Given the description of an element on the screen output the (x, y) to click on. 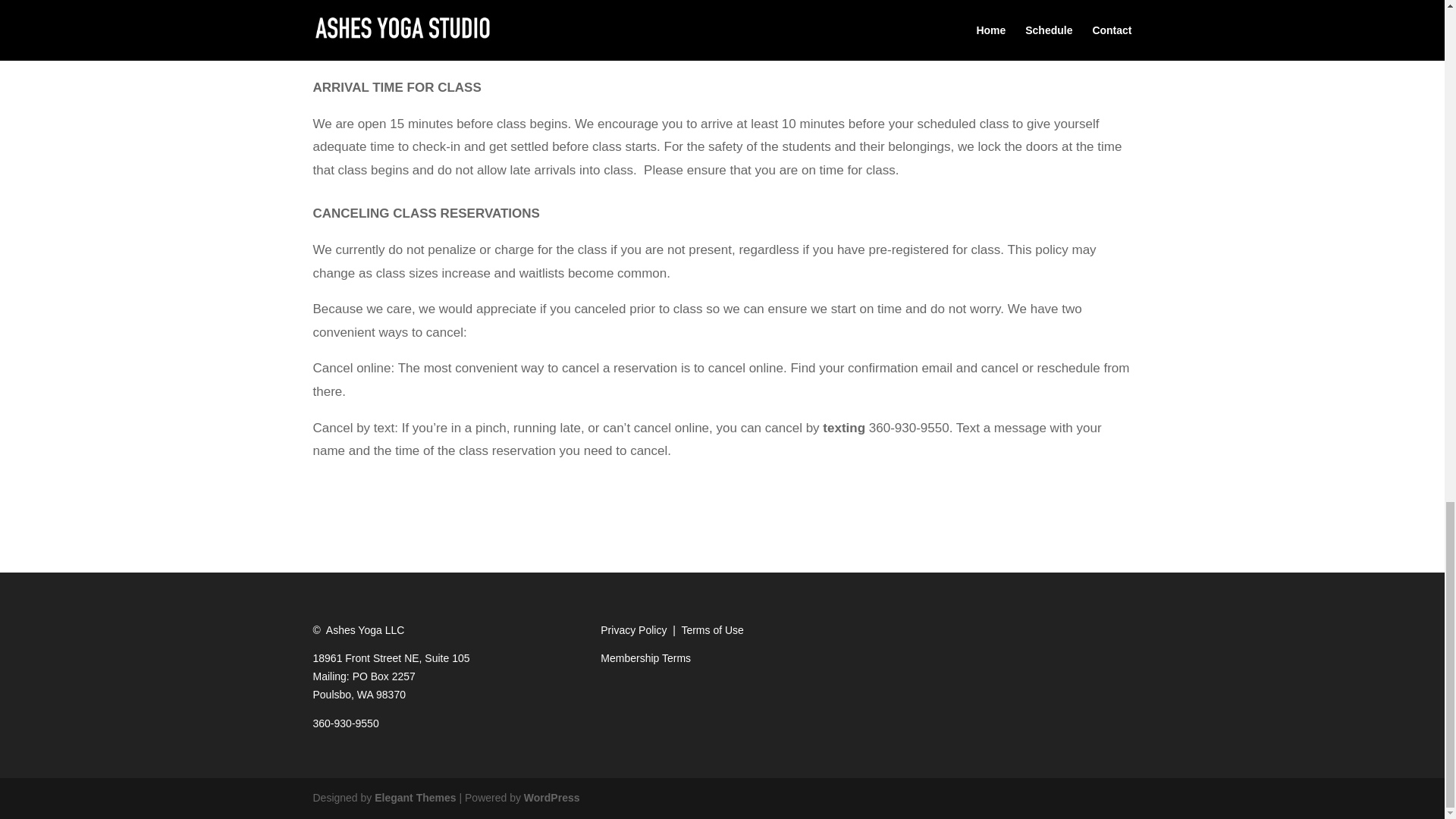
WordPress (551, 797)
Elegant Themes (414, 797)
Premium WordPress Themes (414, 797)
Privacy Policy (632, 630)
Membership Terms (644, 657)
Terms of Use (711, 630)
